Given the description of an element on the screen output the (x, y) to click on. 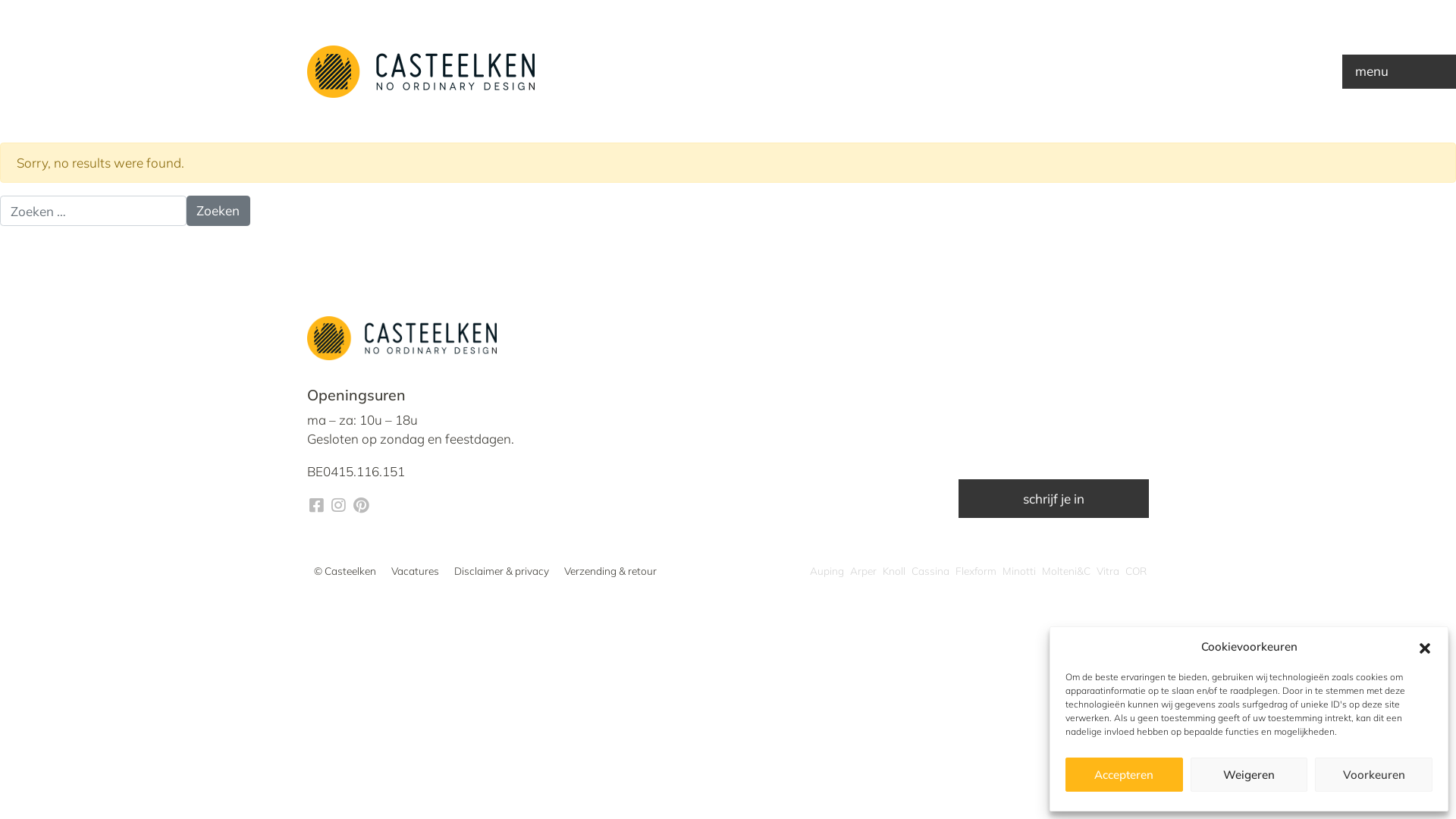
Disclaimer & privacy Element type: text (500, 570)
Accepteren Element type: text (1124, 774)
Auping Element type: text (826, 570)
Vitra Element type: text (1107, 570)
Molteni&C Element type: text (1065, 570)
Arper Element type: text (863, 570)
COR Element type: text (1135, 570)
Verzending & retour Element type: text (610, 570)
Schrijf je in Element type: text (1209, 536)
Weigeren Element type: text (1249, 774)
Vacatures Element type: text (415, 570)
schrijf je in Element type: text (1053, 498)
Minotti Element type: text (1018, 570)
Zoeken Element type: text (218, 210)
Voorkeuren Element type: text (1373, 774)
Flexform Element type: text (975, 570)
Knoll Element type: text (893, 570)
Cassina Element type: text (930, 570)
